Given the description of an element on the screen output the (x, y) to click on. 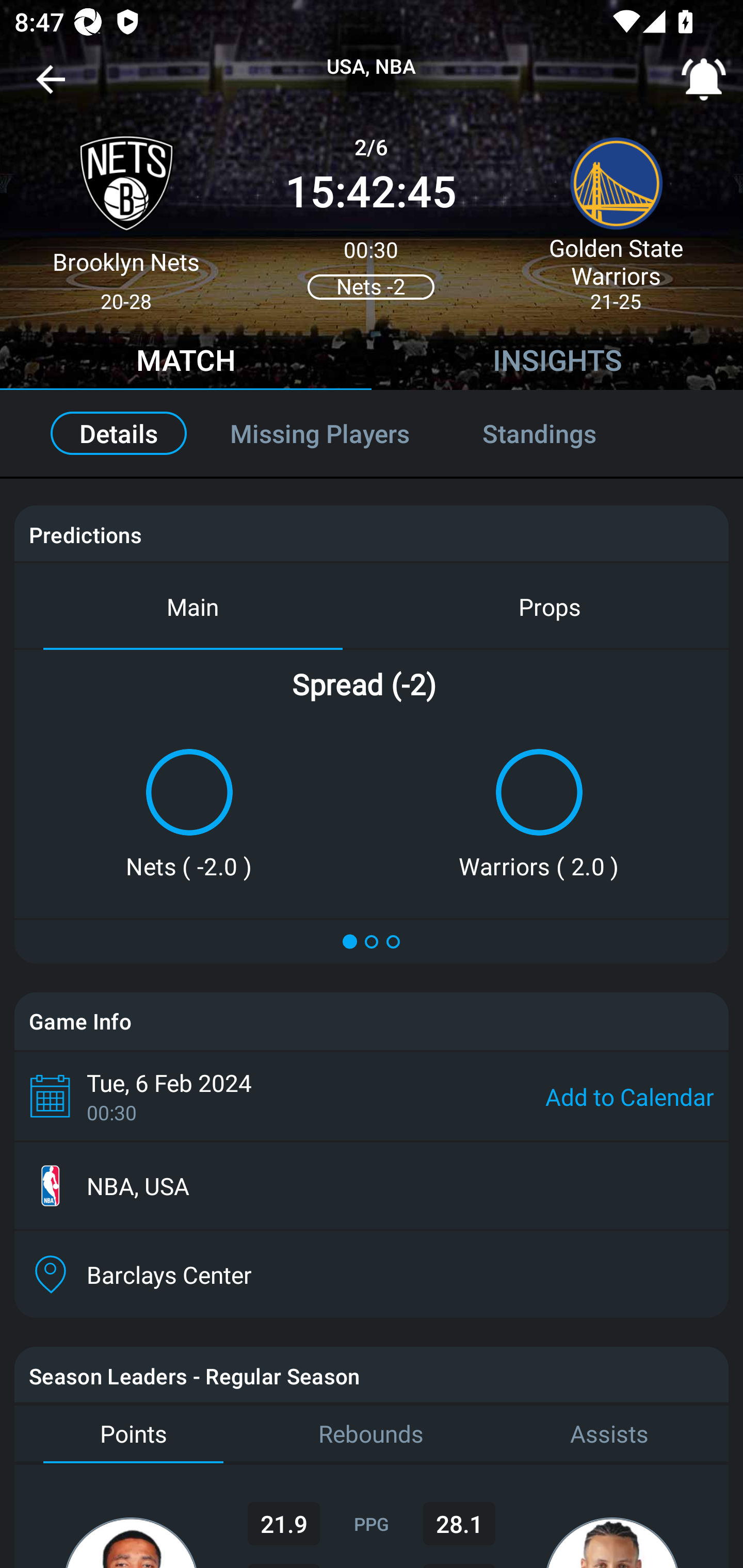
Navigate up (50, 86)
USA, NBA (371, 66)
Brooklyn Nets 20-28 (126, 214)
Golden State Warriors 21-25 (616, 214)
MATCH (185, 362)
INSIGHTS (557, 362)
Missing Players (319, 433)
Standings (561, 433)
Predictions (85, 534)
Props (549, 605)
Game Info (371, 1021)
Tue, 6 Feb 2024 00:30 Add to Calendar (371, 1095)
NBA, USA (371, 1186)
Barclays Center (371, 1273)
Rebounds (371, 1433)
Assists (609, 1433)
